Given the description of an element on the screen output the (x, y) to click on. 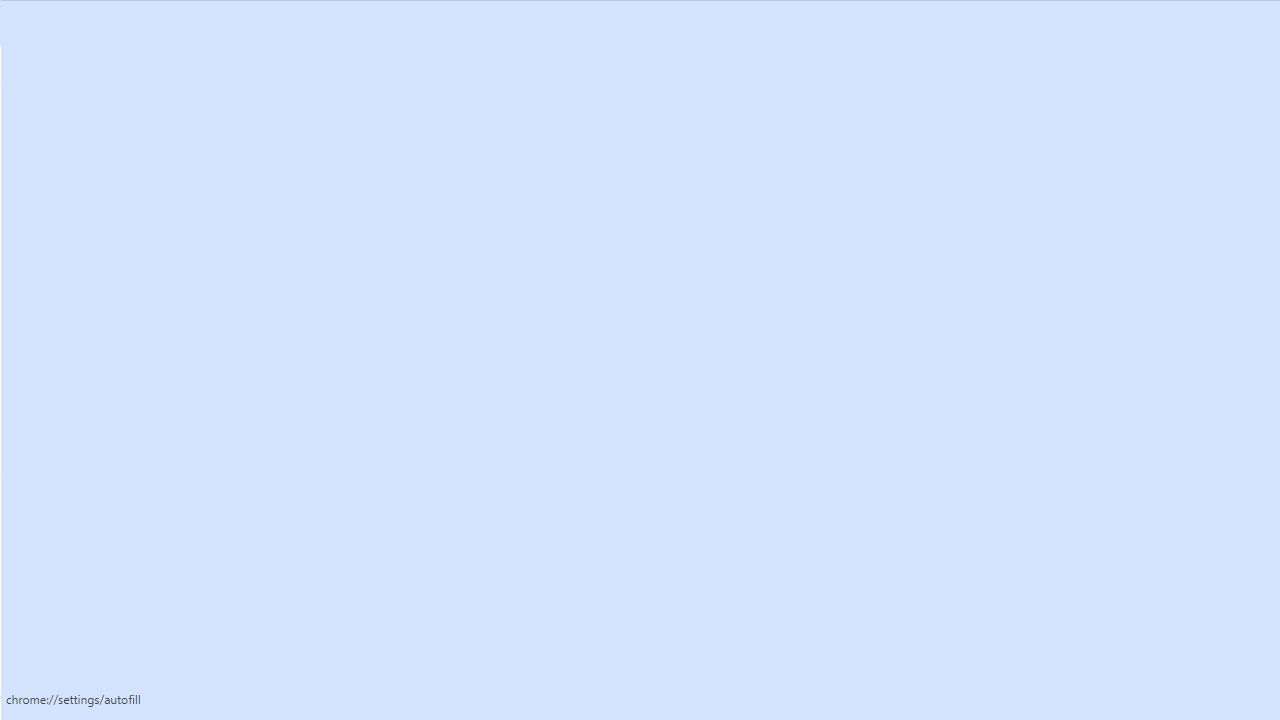
Reset settings (124, 668)
Performance (124, 290)
Accessibility (124, 587)
Appearance (124, 331)
Search engine (124, 370)
On startup (124, 450)
Privacy and security (124, 250)
Settings - Autofill and passwords (156, 20)
